Given the description of an element on the screen output the (x, y) to click on. 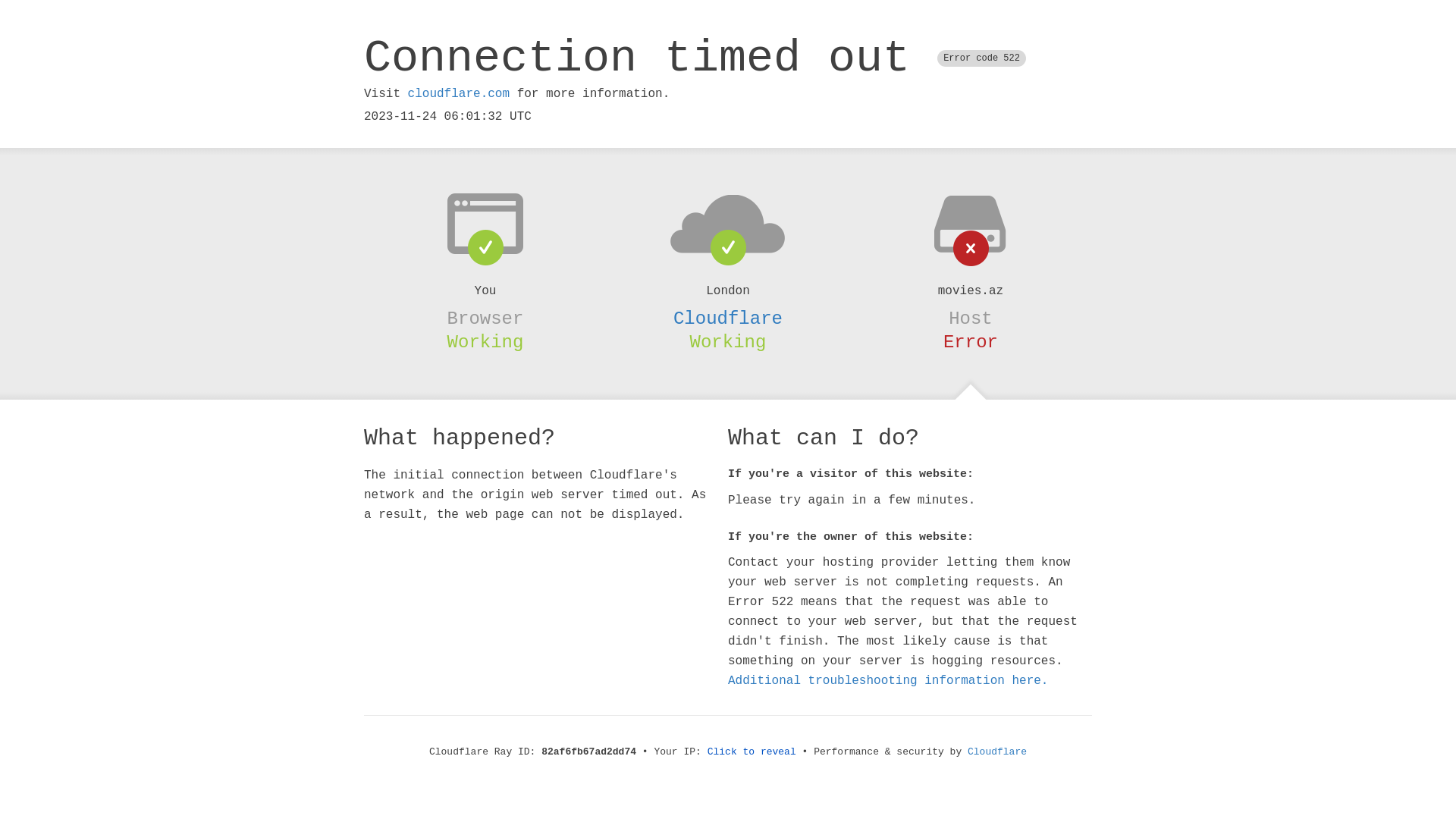
Additional troubleshooting information here. Element type: text (888, 680)
Click to reveal Element type: text (751, 751)
cloudflare.com Element type: text (458, 93)
Cloudflare Element type: text (996, 751)
Cloudflare Element type: text (727, 318)
